Given the description of an element on the screen output the (x, y) to click on. 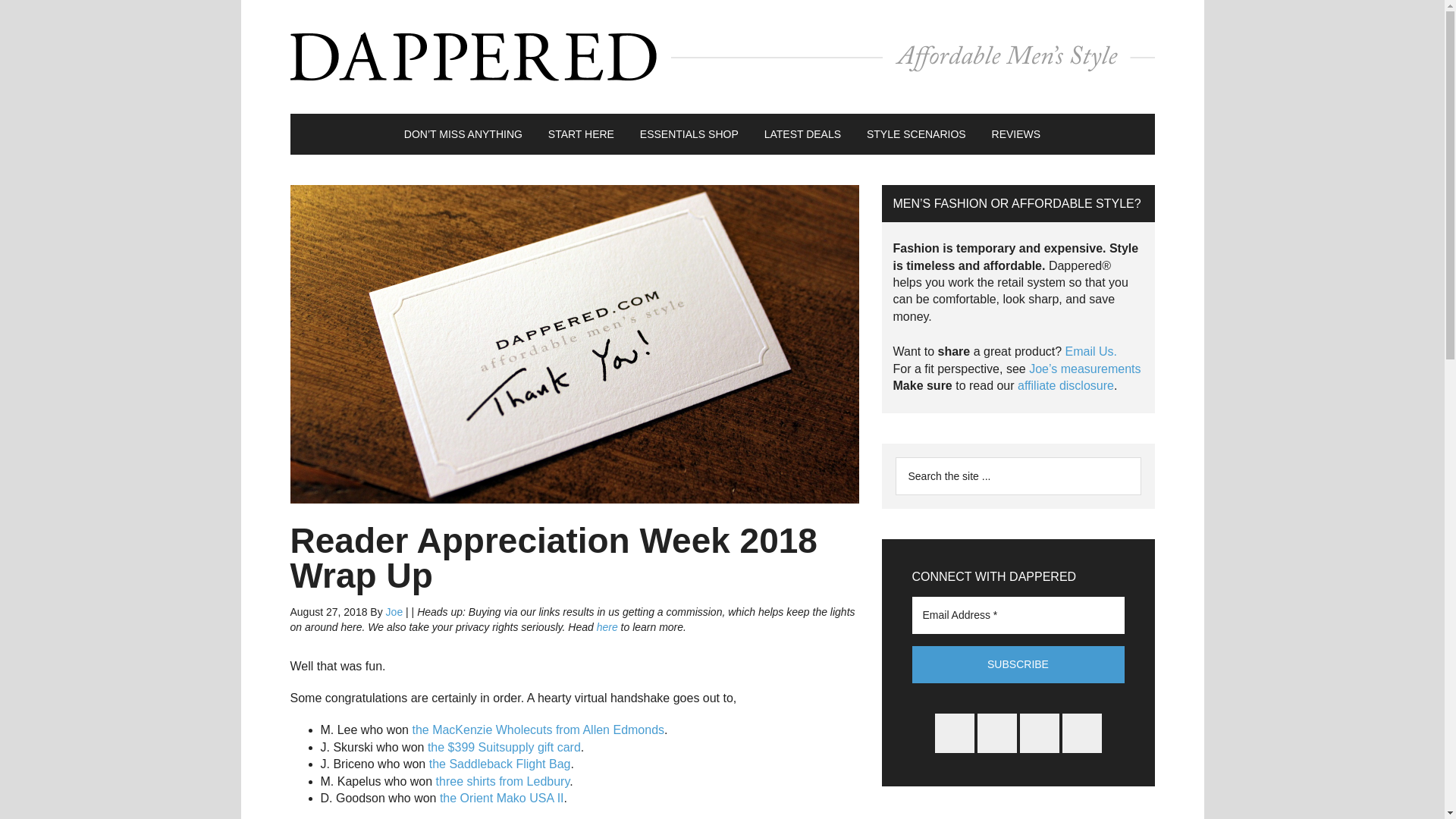
Dappered Disclosures (1065, 385)
LATEST DEALS (801, 133)
three shirts from Ledbury (502, 780)
REVIEWS (1015, 133)
here (606, 626)
Email Us. (1090, 350)
Email Address (1017, 614)
Dappered (721, 56)
Subscribe (1017, 664)
STYLE SCENARIOS (916, 133)
the Orient Mako USA II (501, 797)
the Saddleback Flight Bag (499, 763)
the MacKenzie Wholecuts from Allen Edmonds (537, 729)
